Given the description of an element on the screen output the (x, y) to click on. 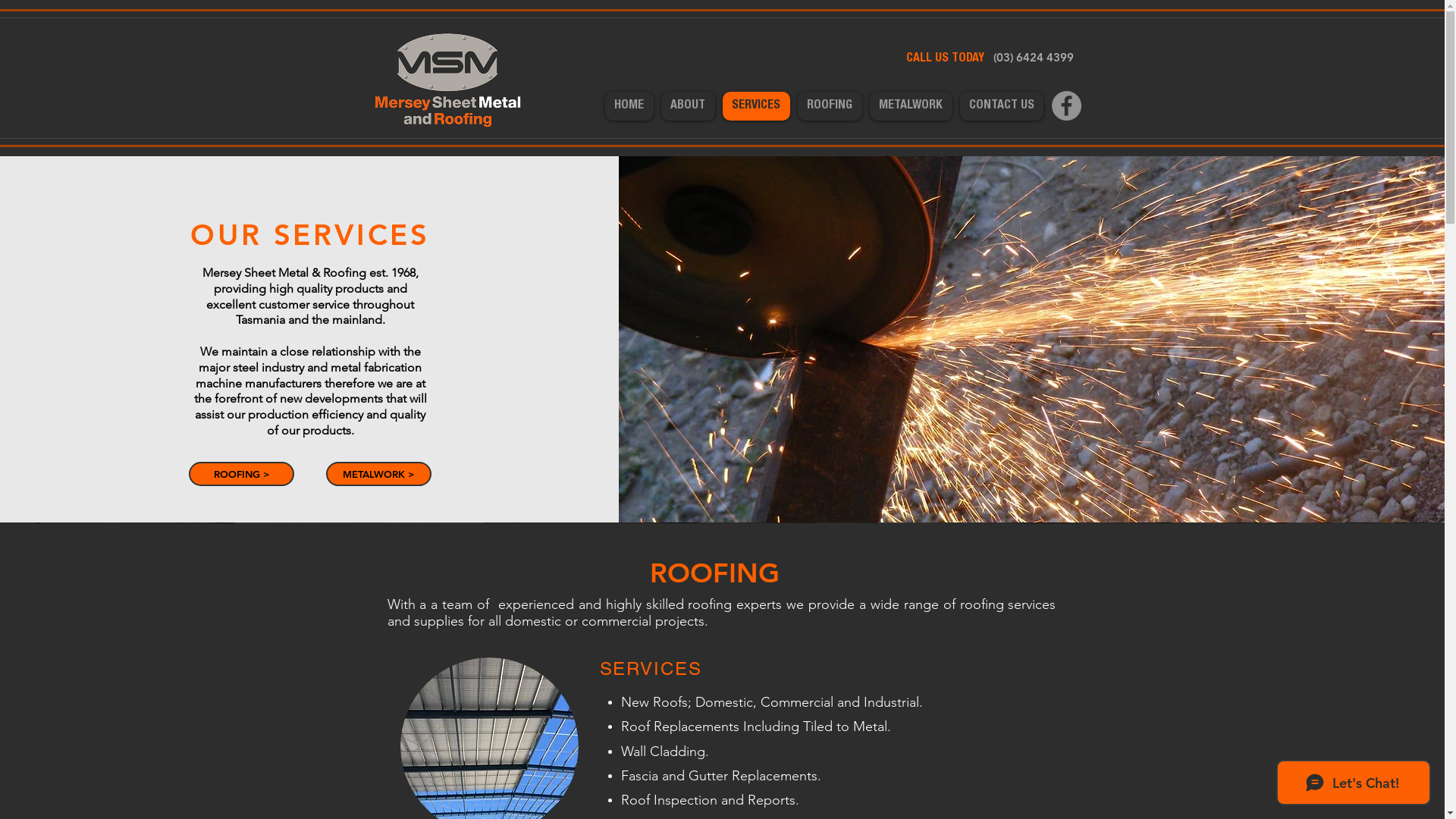
(03) 6424 4399 Element type: text (1032, 56)
ABOUT Element type: text (688, 105)
ROOFING > Element type: text (241, 473)
SERVICES Element type: text (755, 105)
CONTACT US Element type: text (1001, 105)
HOME Element type: text (629, 105)
METALWORK Element type: text (910, 105)
ROOFING Element type: text (829, 105)
METALWORK > Element type: text (378, 473)
